Given the description of an element on the screen output the (x, y) to click on. 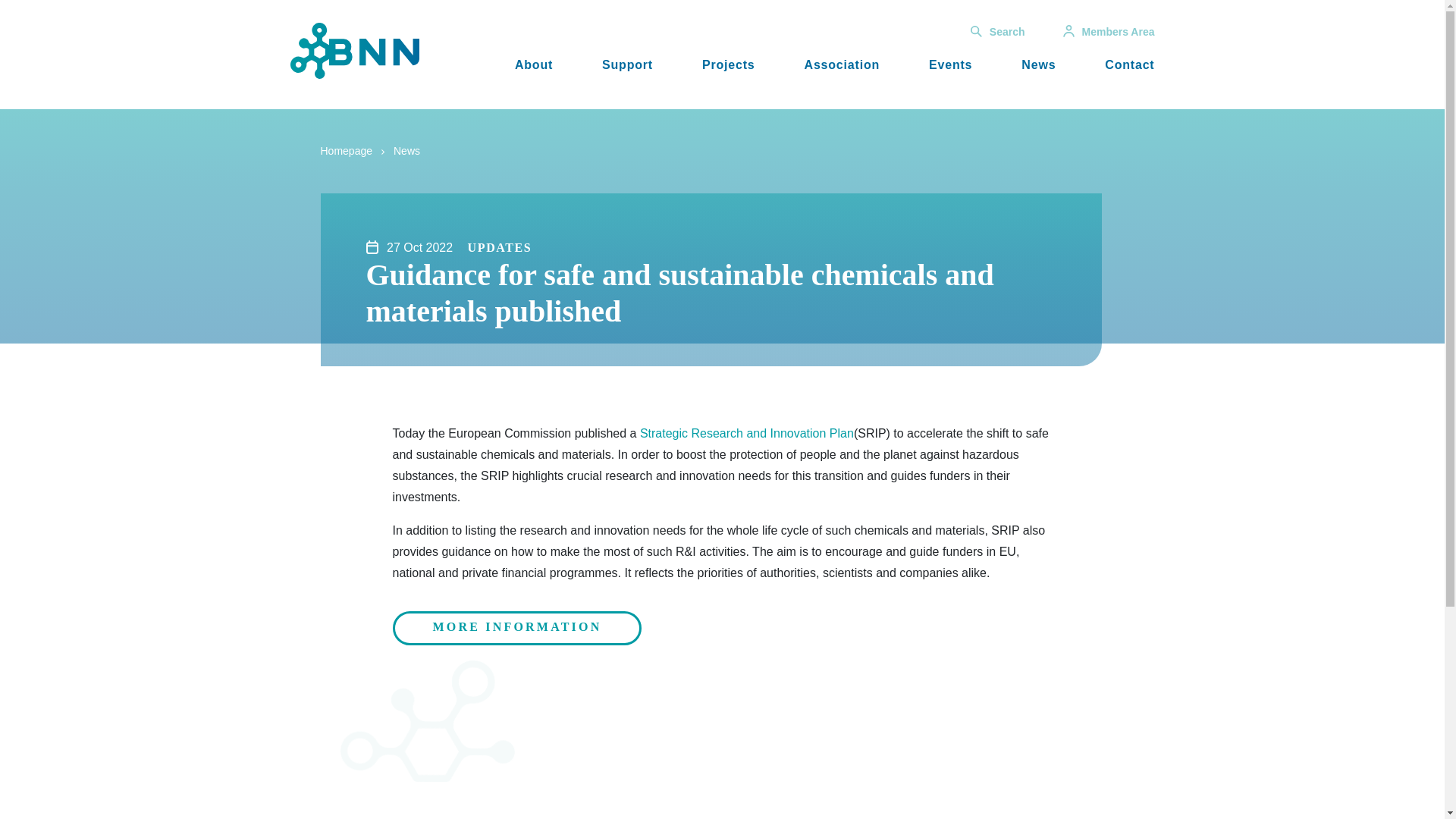
Events (950, 64)
MORE INFORMATION (517, 627)
Members Area (1108, 31)
Support (627, 64)
About (534, 64)
Strategic Research and Innovation Plan (746, 432)
Association (842, 64)
Homepage (346, 150)
News (1038, 64)
Zur Startseite (354, 49)
Search (998, 31)
Contact (1129, 64)
News (406, 150)
Projects (728, 64)
